Given the description of an element on the screen output the (x, y) to click on. 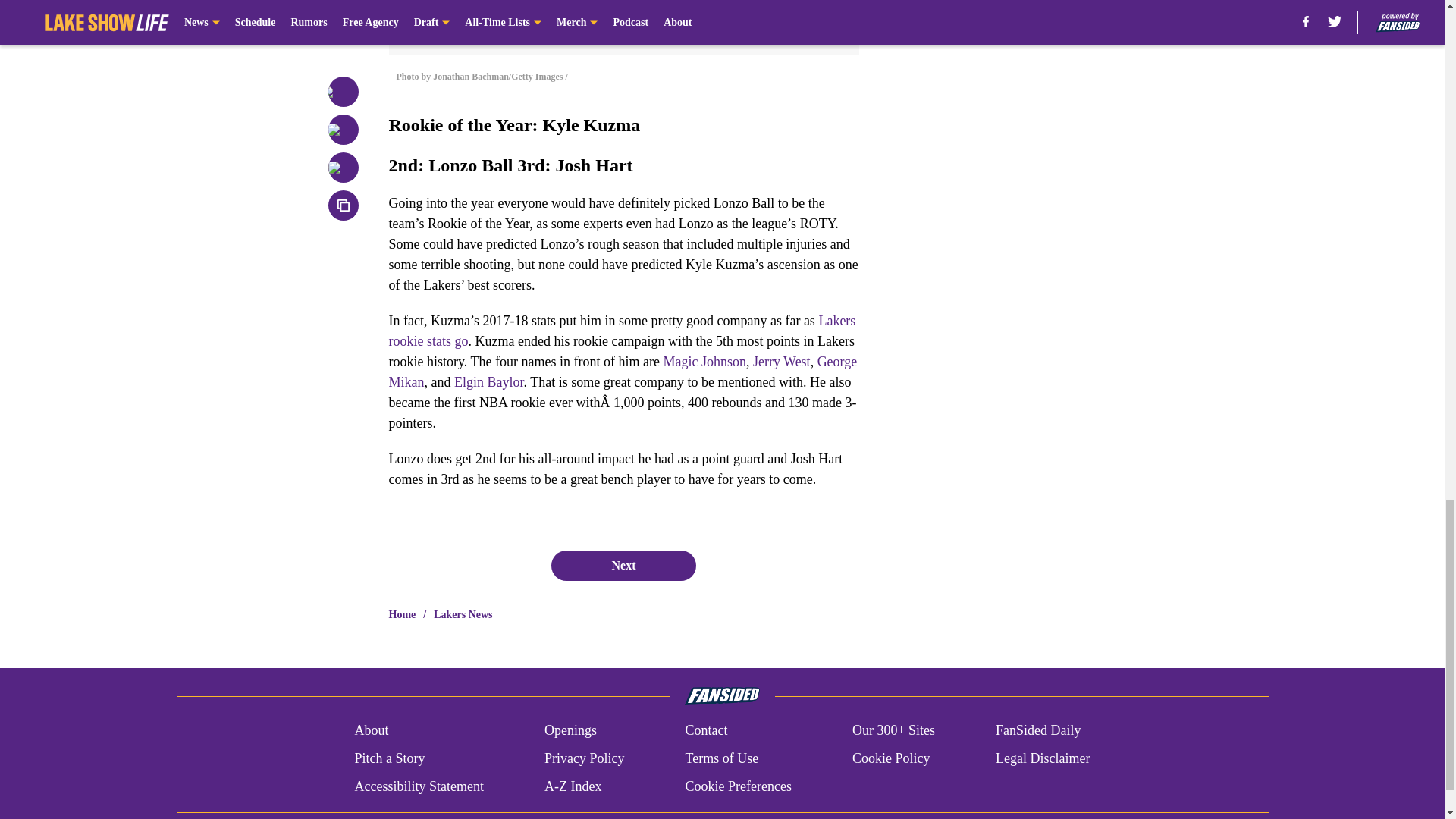
Lakers rookie stats go (622, 330)
Magic Johnson (703, 361)
Jerry West (781, 361)
George Mikan (622, 371)
